Given the description of an element on the screen output the (x, y) to click on. 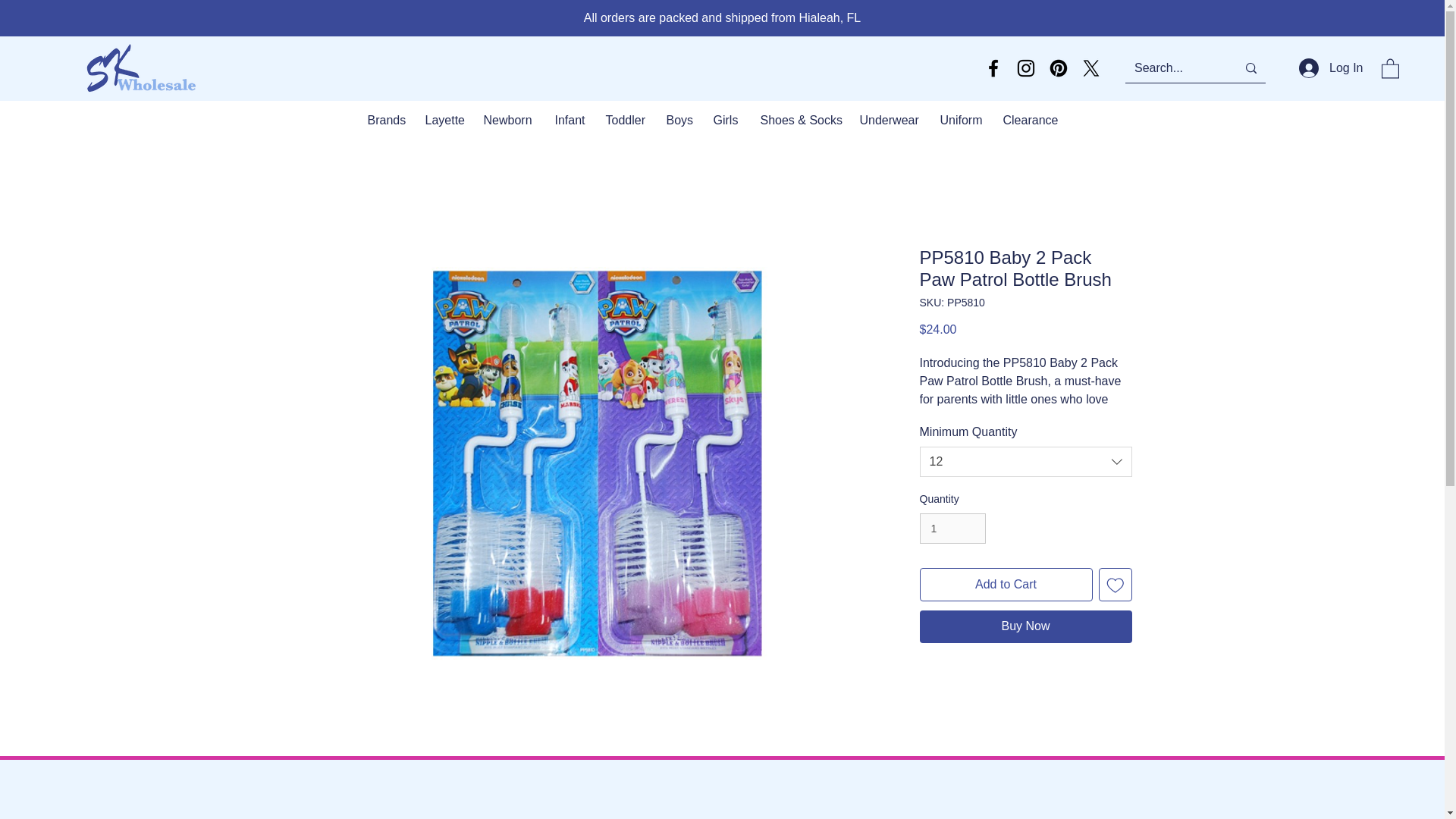
Brands (384, 120)
1 (951, 528)
Log In (1328, 68)
Infant (568, 120)
Newborn (507, 120)
Layette (442, 120)
Toddler (624, 120)
